Given the description of an element on the screen output the (x, y) to click on. 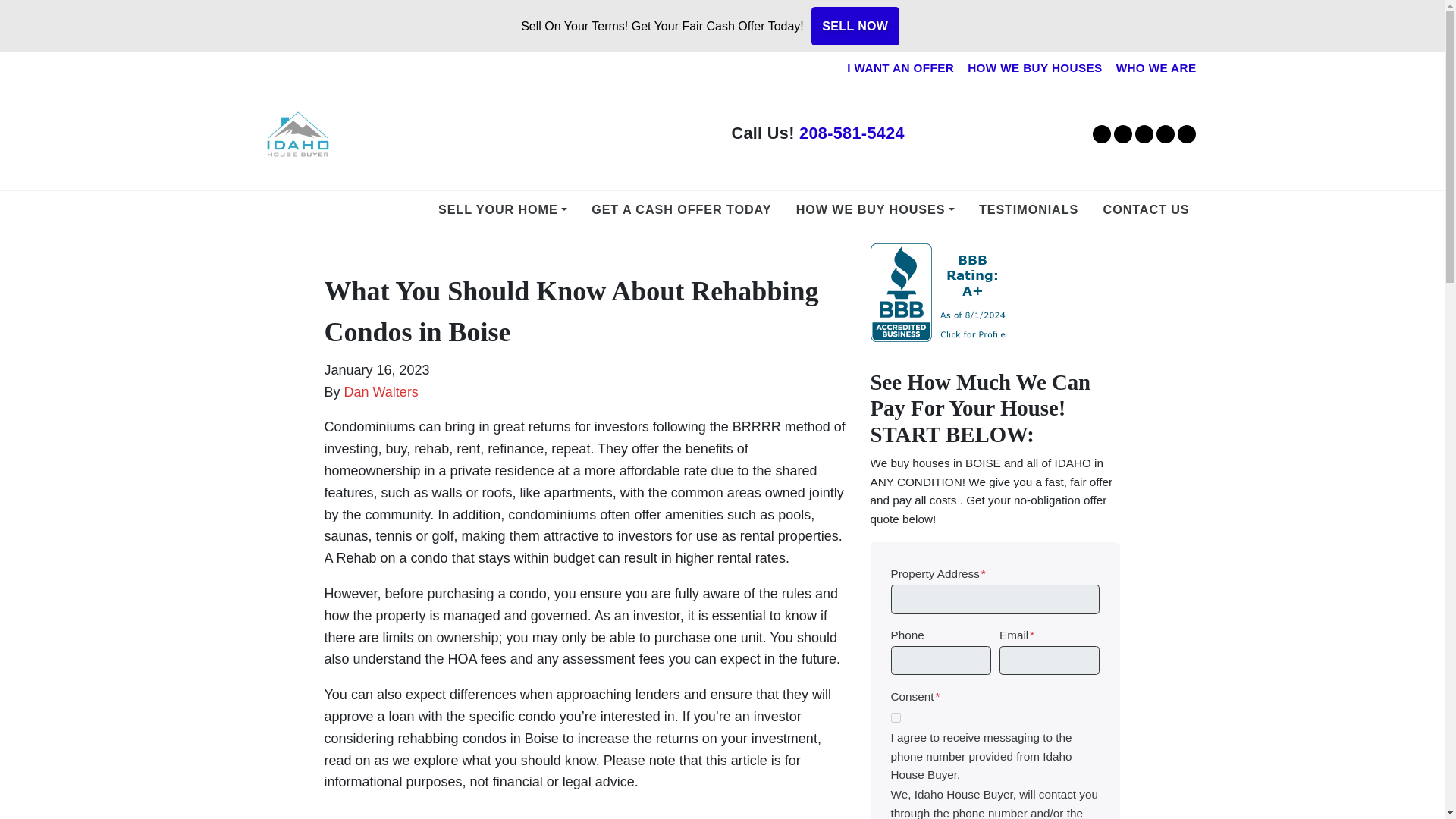
Contact Us (1146, 210)
WHO WE ARE (1156, 68)
I WANT AN OFFER (900, 68)
TESTIMONIALS (1028, 210)
Facebook (1122, 134)
CONTACT US (1146, 210)
1 (894, 717)
LinkedIn (1165, 134)
YouTube (1144, 134)
SELL NOW (854, 25)
Get A Cash Offer Today (681, 210)
SELL YOUR HOME (501, 210)
How we buy houses (874, 210)
Dan Walters (381, 391)
HOW WE BUY HOUSES (874, 210)
